Given the description of an element on the screen output the (x, y) to click on. 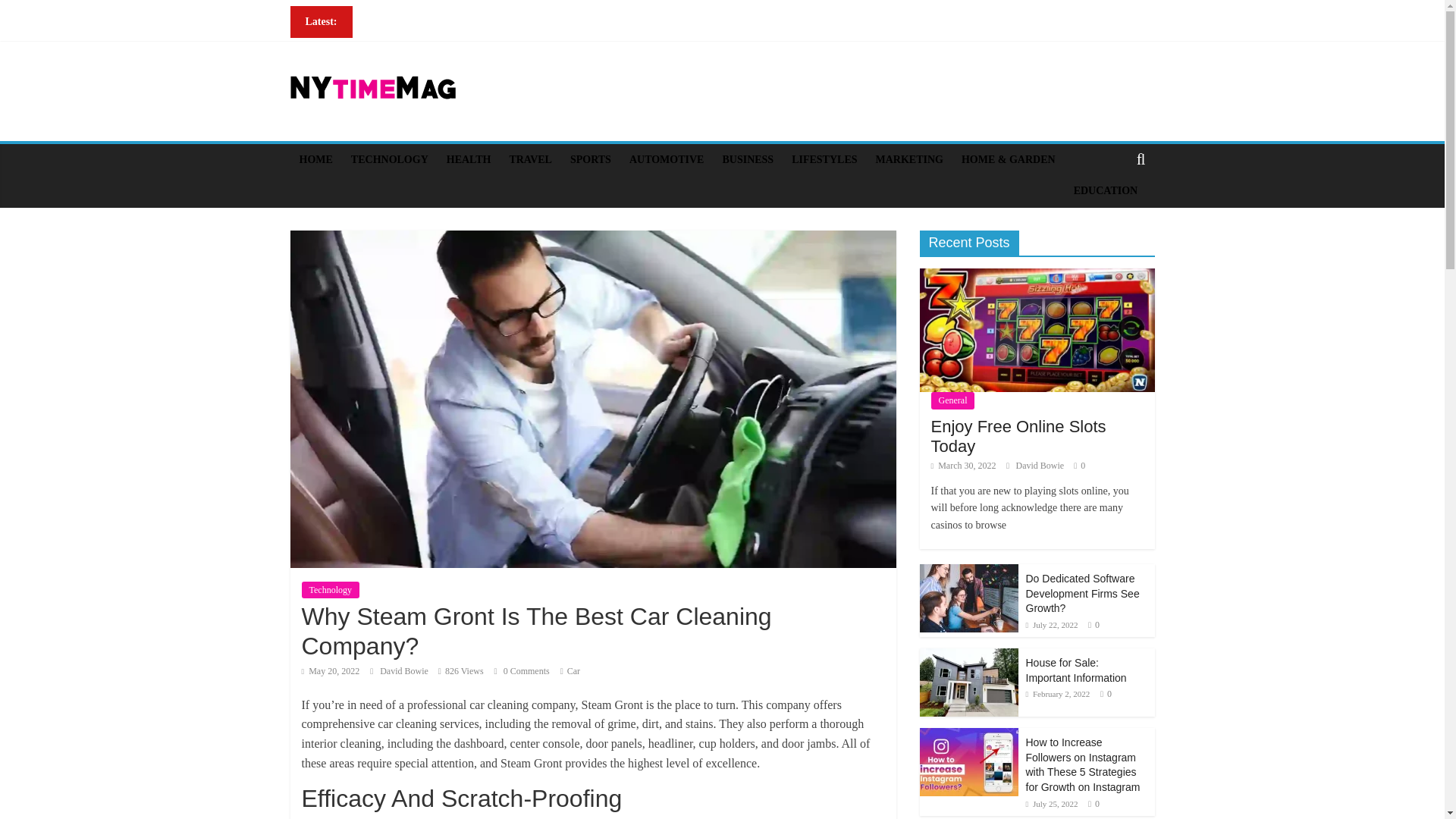
David Bowie (405, 670)
0 Comments (522, 670)
7:53 pm (330, 670)
TRAVEL (529, 160)
BUSINESS (748, 160)
TECHNOLOGY (390, 160)
David Bowie (405, 670)
MARKETING (909, 160)
The Evolution of Algorithmic Trading: From Humans to Robots (438, 108)
May 20, 2022 (330, 670)
Car (573, 670)
Technology (330, 589)
